Given the description of an element on the screen output the (x, y) to click on. 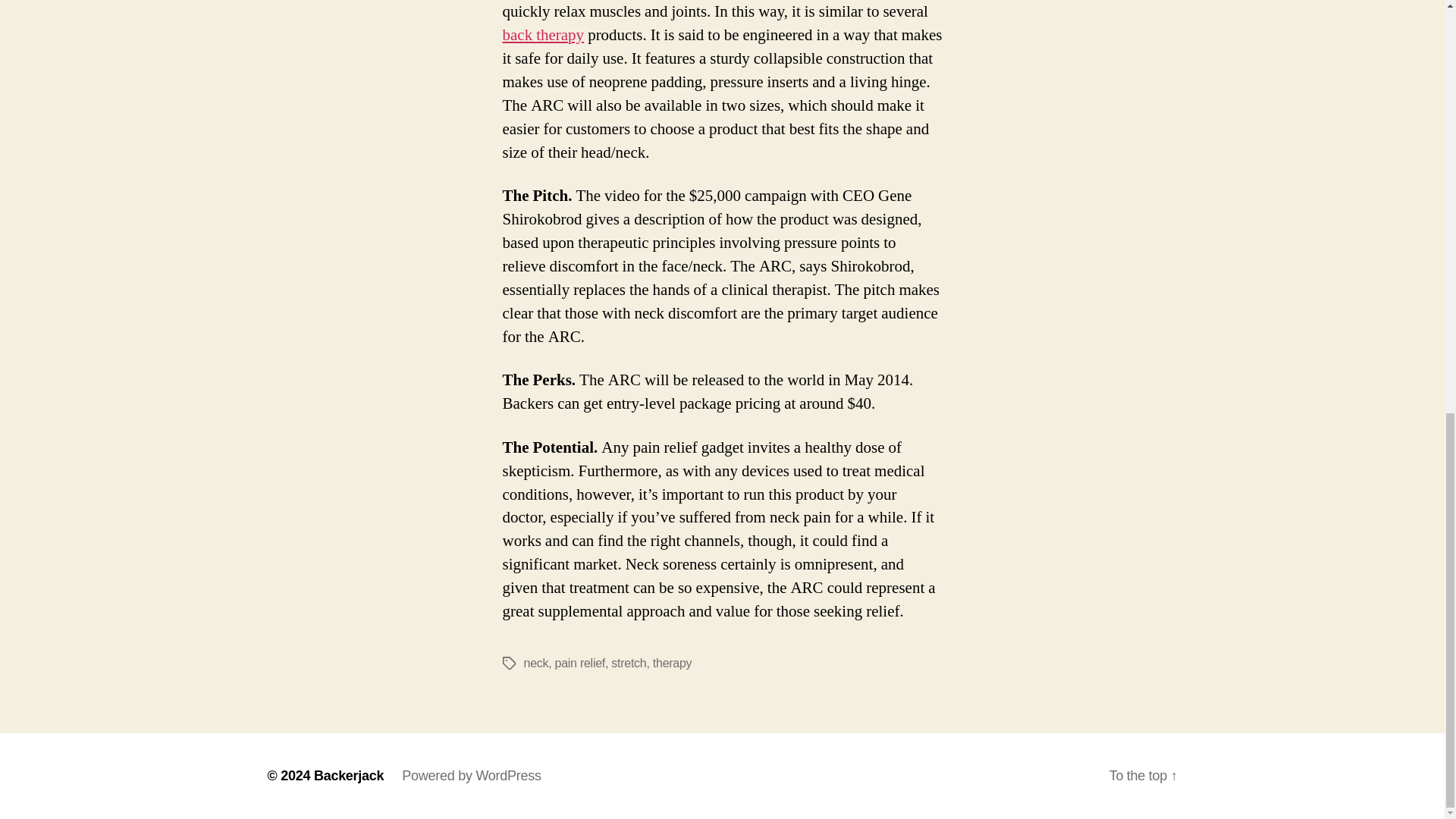
Powered by WordPress (470, 775)
back therapy (542, 35)
neck (535, 662)
Backerjack (349, 775)
stretch (628, 662)
therapy (671, 662)
pain relief (579, 662)
